Given the description of an element on the screen output the (x, y) to click on. 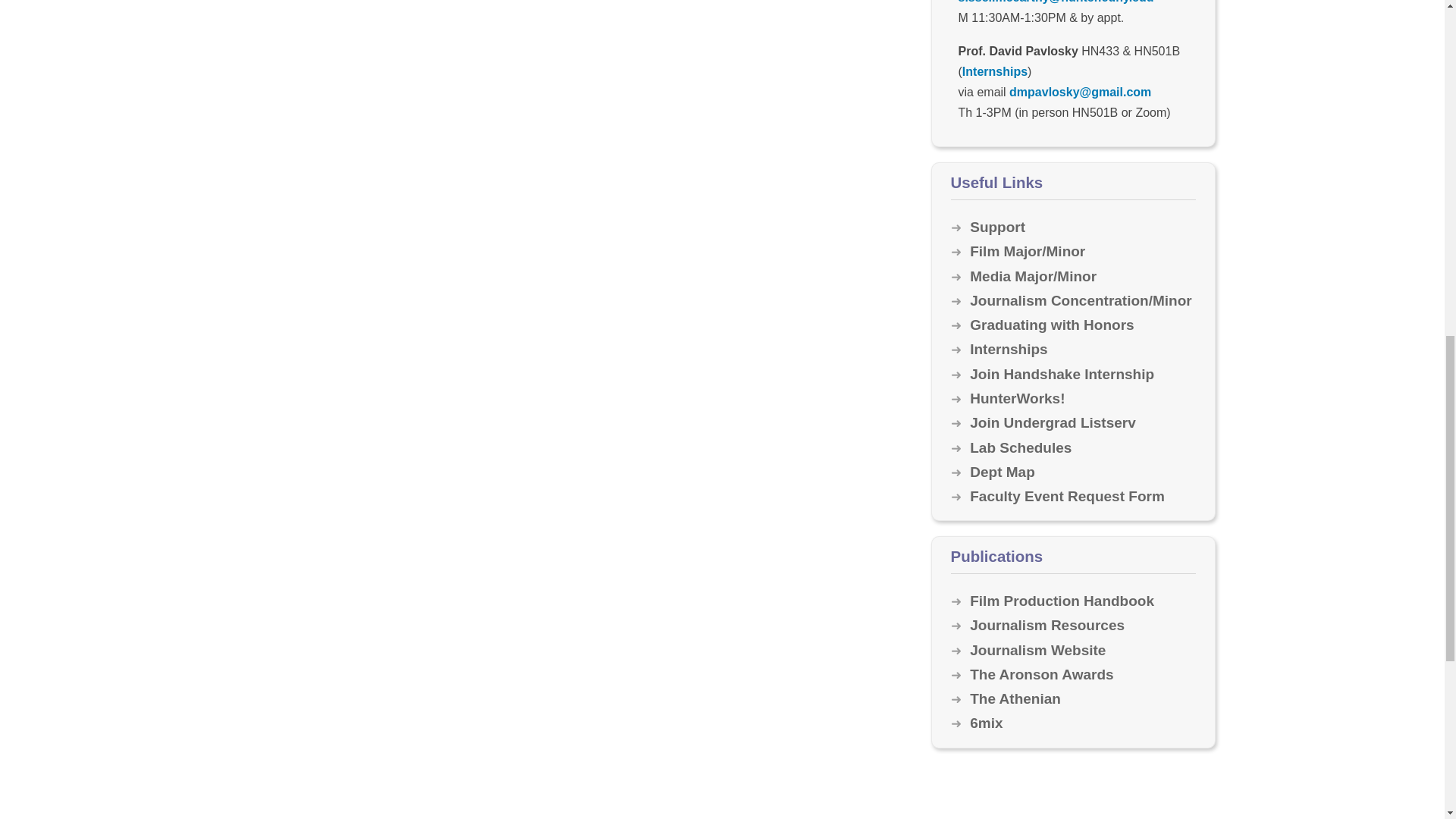
Handshake app (1061, 374)
Find out about internship opportunities. (1007, 349)
